Given the description of an element on the screen output the (x, y) to click on. 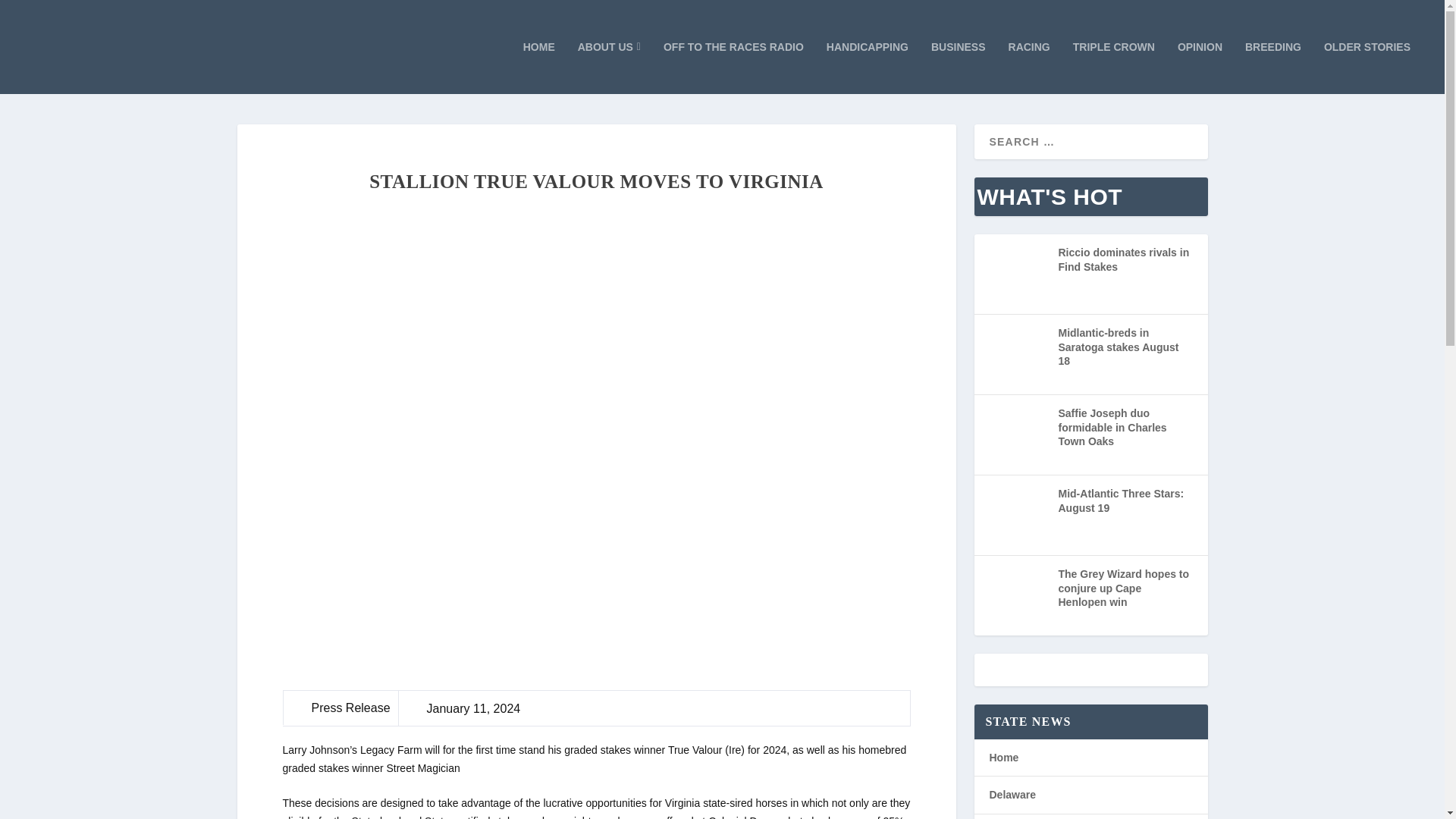
OLDER STORIES (1366, 67)
OFF TO THE RACES RADIO (733, 67)
TRIPLE CROWN (1113, 67)
HANDICAPPING (867, 67)
ABOUT US (609, 67)
BREEDING (1272, 67)
BUSINESS (958, 67)
